Given the description of an element on the screen output the (x, y) to click on. 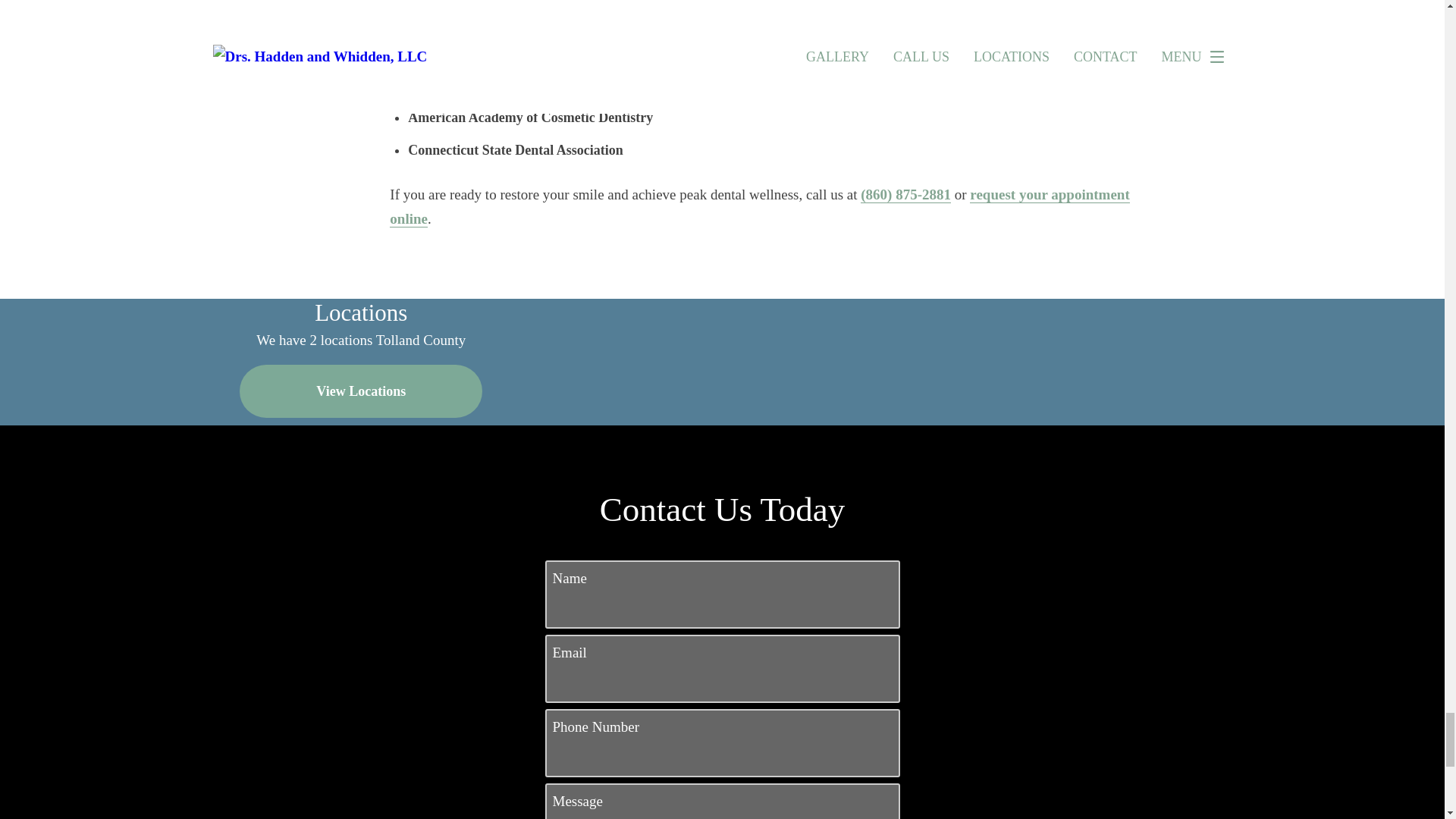
Drs. Hadden and Whidden, LLC (491, 25)
request your appointment online (759, 206)
Locations (834, 310)
